Given the description of an element on the screen output the (x, y) to click on. 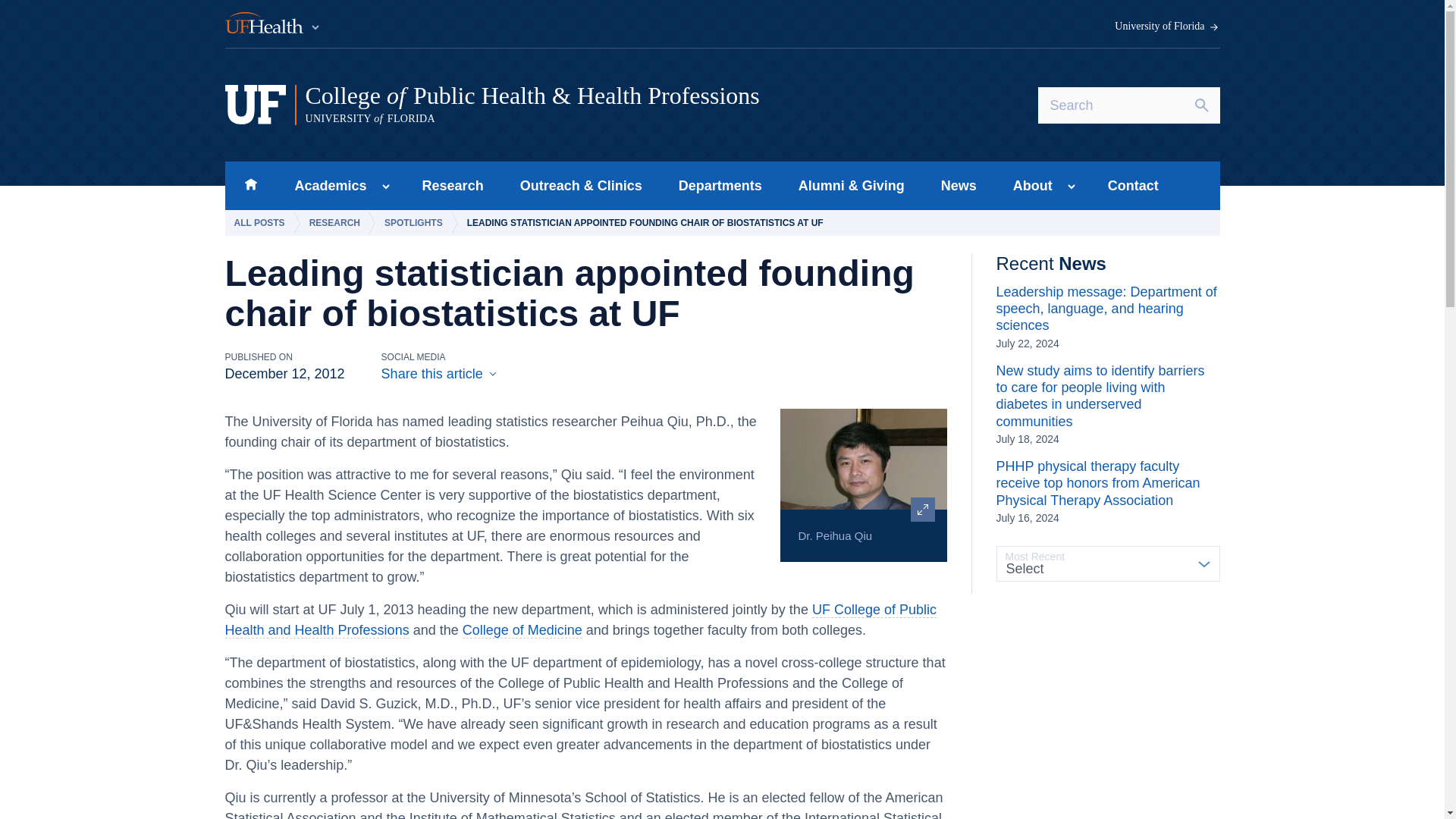
University of Florida (1167, 26)
Academics (325, 185)
UF Health (272, 24)
News (958, 185)
About (1027, 185)
ALL POSTS (261, 222)
Research (453, 185)
Departments (720, 185)
Qiu, Peihua (862, 470)
Home (250, 185)
Contact (1132, 185)
